Given the description of an element on the screen output the (x, y) to click on. 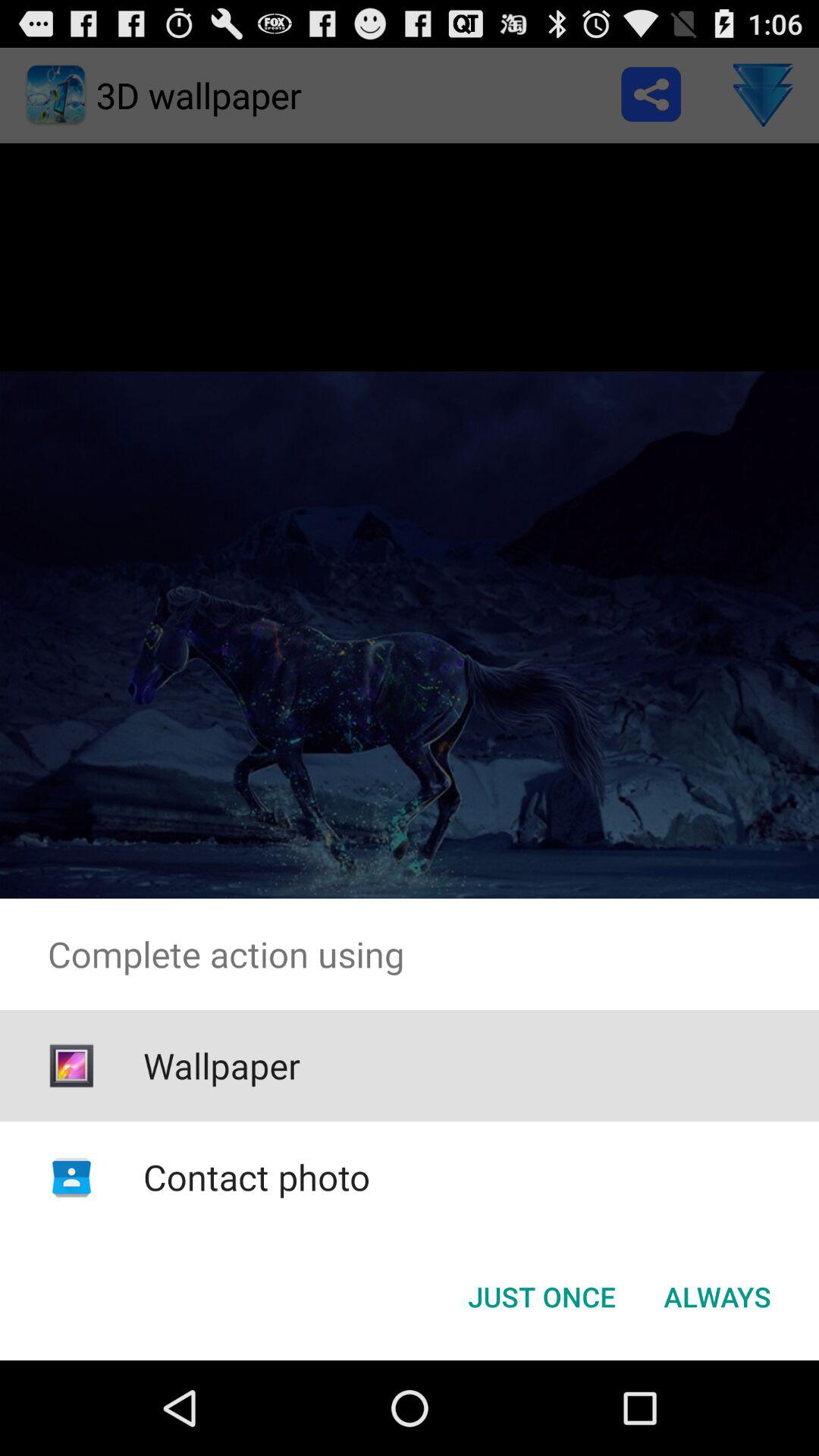
swipe until the just once icon (541, 1296)
